Given the description of an element on the screen output the (x, y) to click on. 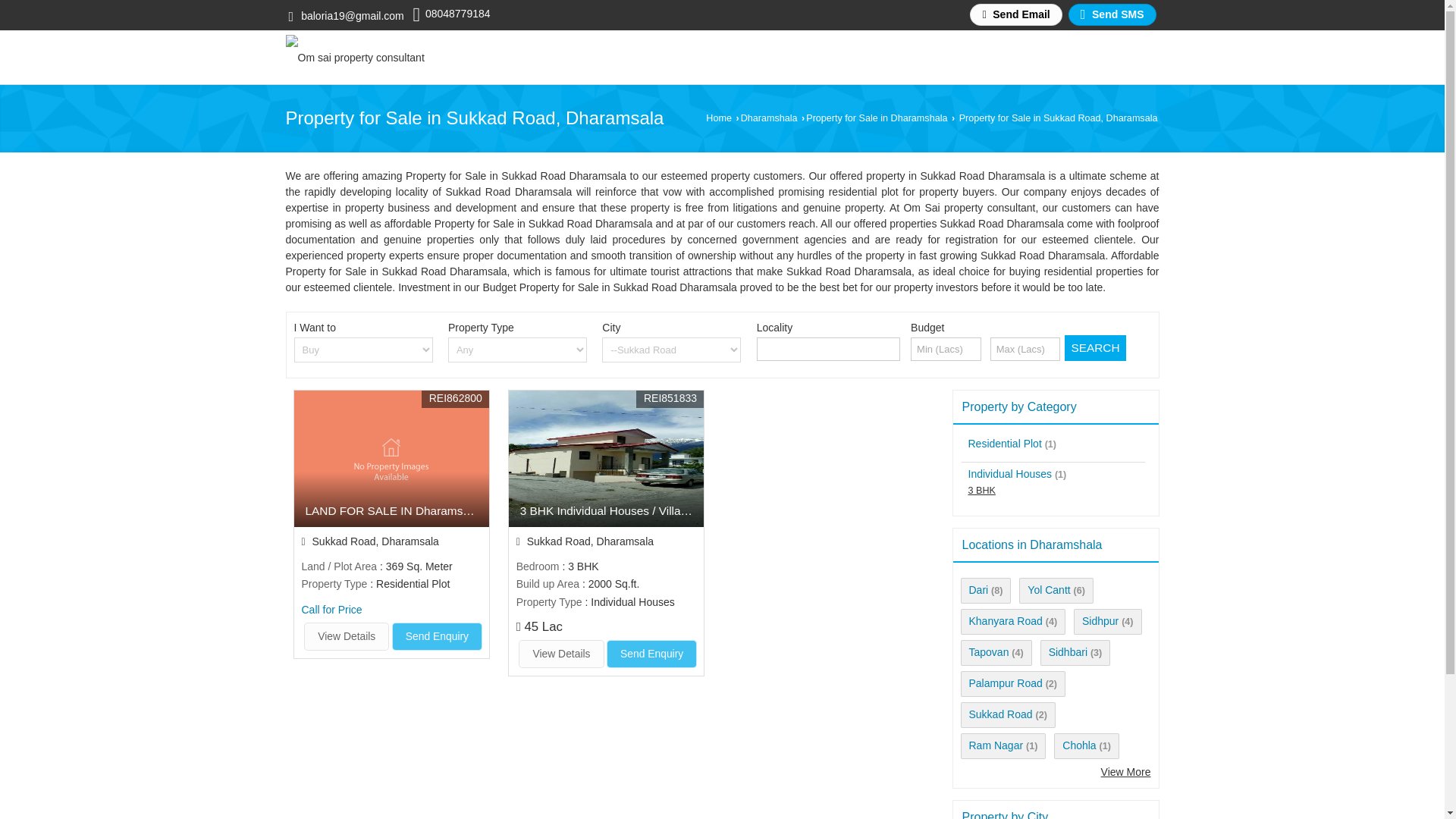
Om sai property consultant (354, 57)
Send SMS (1112, 14)
SEARCH (1094, 347)
Om sai property consultant (354, 57)
Send Email (1015, 14)
